Given the description of an element on the screen output the (x, y) to click on. 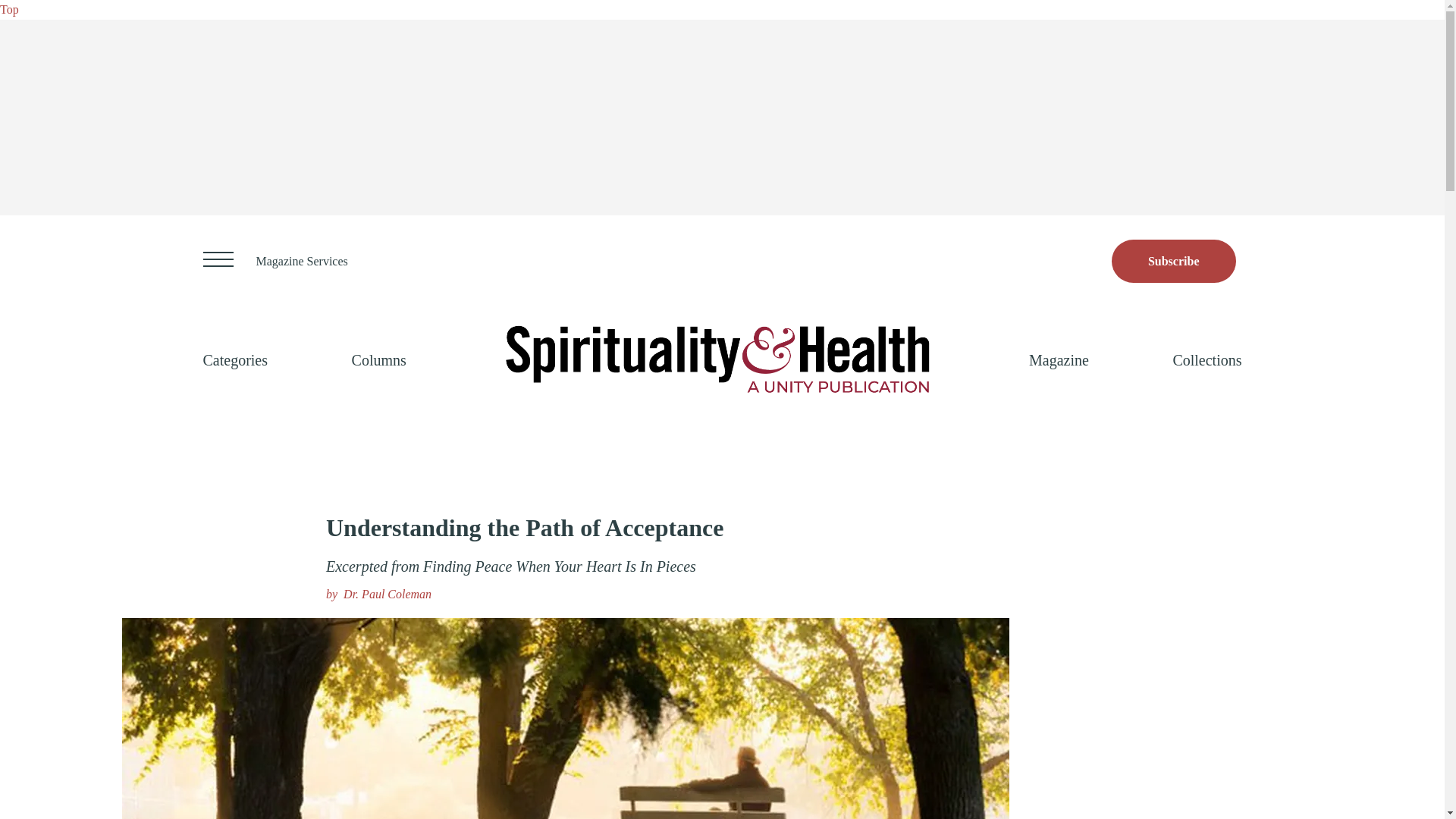
Magazine Services (301, 260)
Collections (1206, 359)
Top (9, 9)
Magazine (1059, 359)
Columns (379, 359)
Subscribe (1174, 261)
Opens to Store site (1174, 261)
Categories (235, 359)
